Given the description of an element on the screen output the (x, y) to click on. 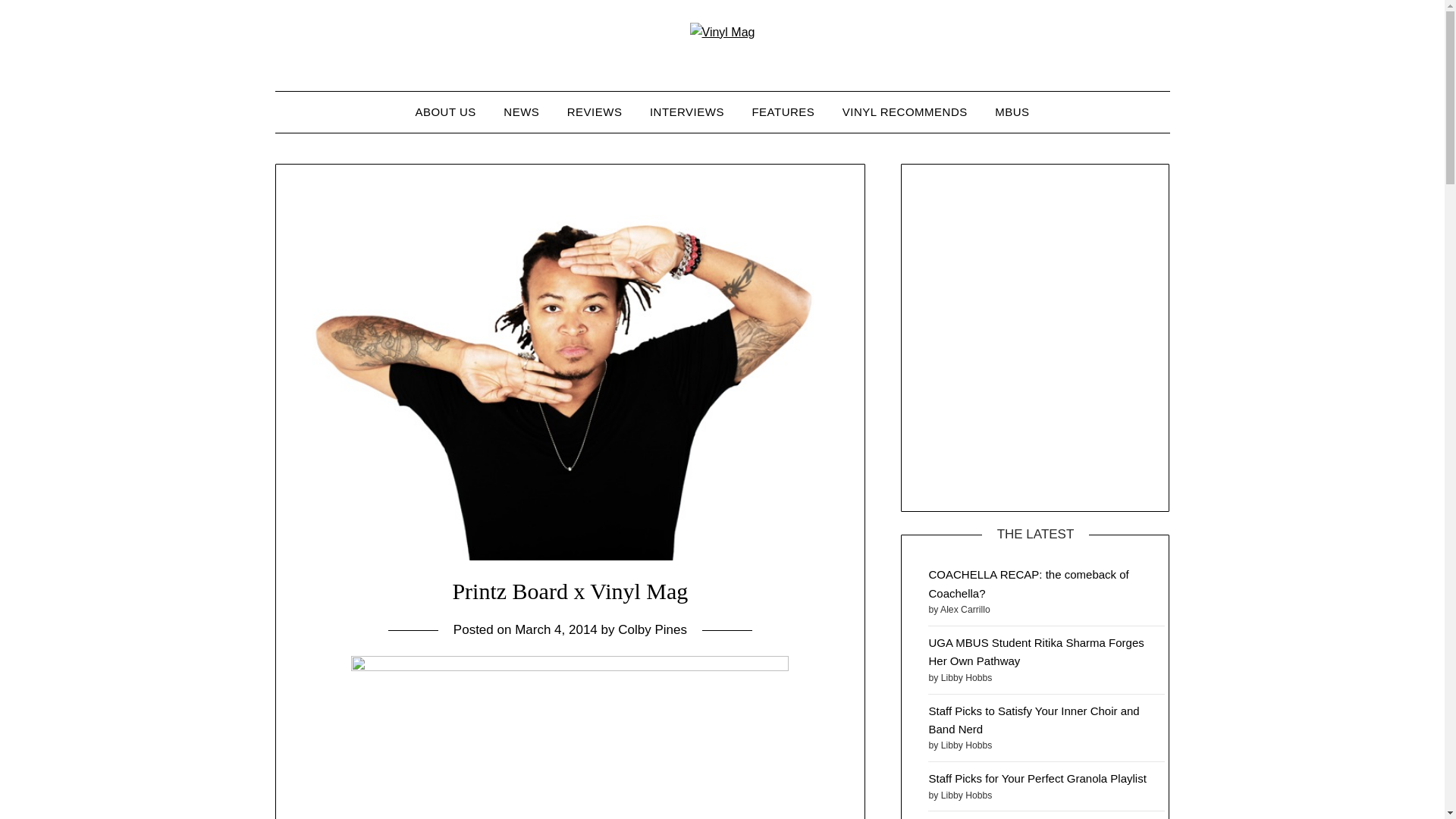
FEATURES (783, 111)
Staff Picks to Satisfy Your Inner Choir and Band Nerd (1033, 719)
Colby Pines (652, 629)
a (569, 737)
ABOUT US (445, 111)
REVIEWS (594, 111)
MBUS (1011, 111)
UGA MBUS Student Ritika Sharma Forges Her Own Pathway (1035, 651)
Spotify Embed: EXPLORE: Athens, GA (1035, 334)
NEWS (521, 111)
VINYL RECOMMENDS (904, 111)
COACHELLA RECAP: the comeback of Coachella? (1028, 583)
Staff Picks for Your Perfect Granola Playlist (1036, 778)
March 4, 2014 (555, 629)
INTERVIEWS (686, 111)
